Given the description of an element on the screen output the (x, y) to click on. 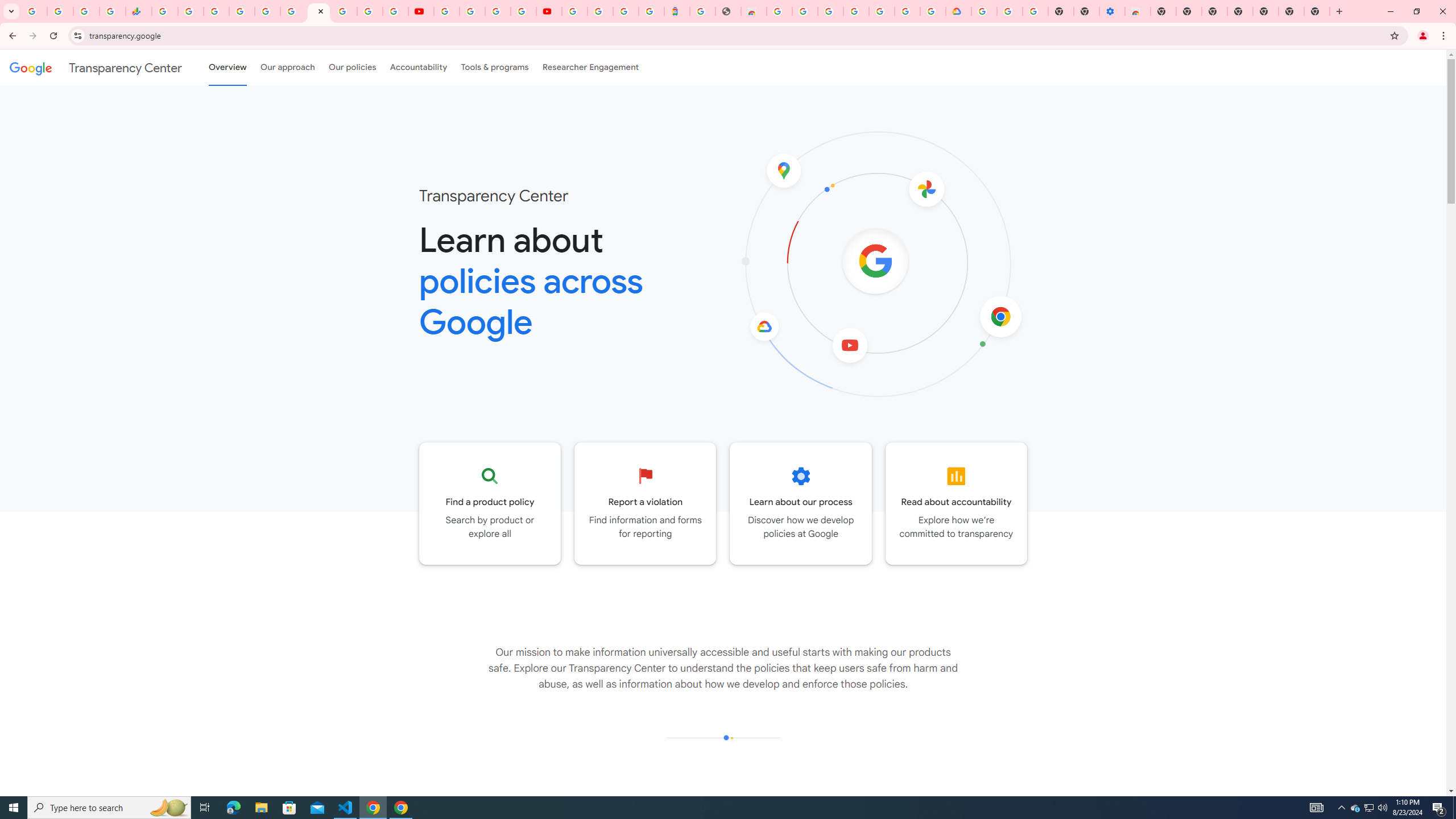
Sign in - Google Accounts (574, 11)
Go to the Product policy page (490, 503)
Google Account Help (1009, 11)
Go to the Our process page (800, 503)
Go to the Accountability page (956, 503)
Sign in - Google Accounts (600, 11)
New Tab (1265, 11)
